Given the description of an element on the screen output the (x, y) to click on. 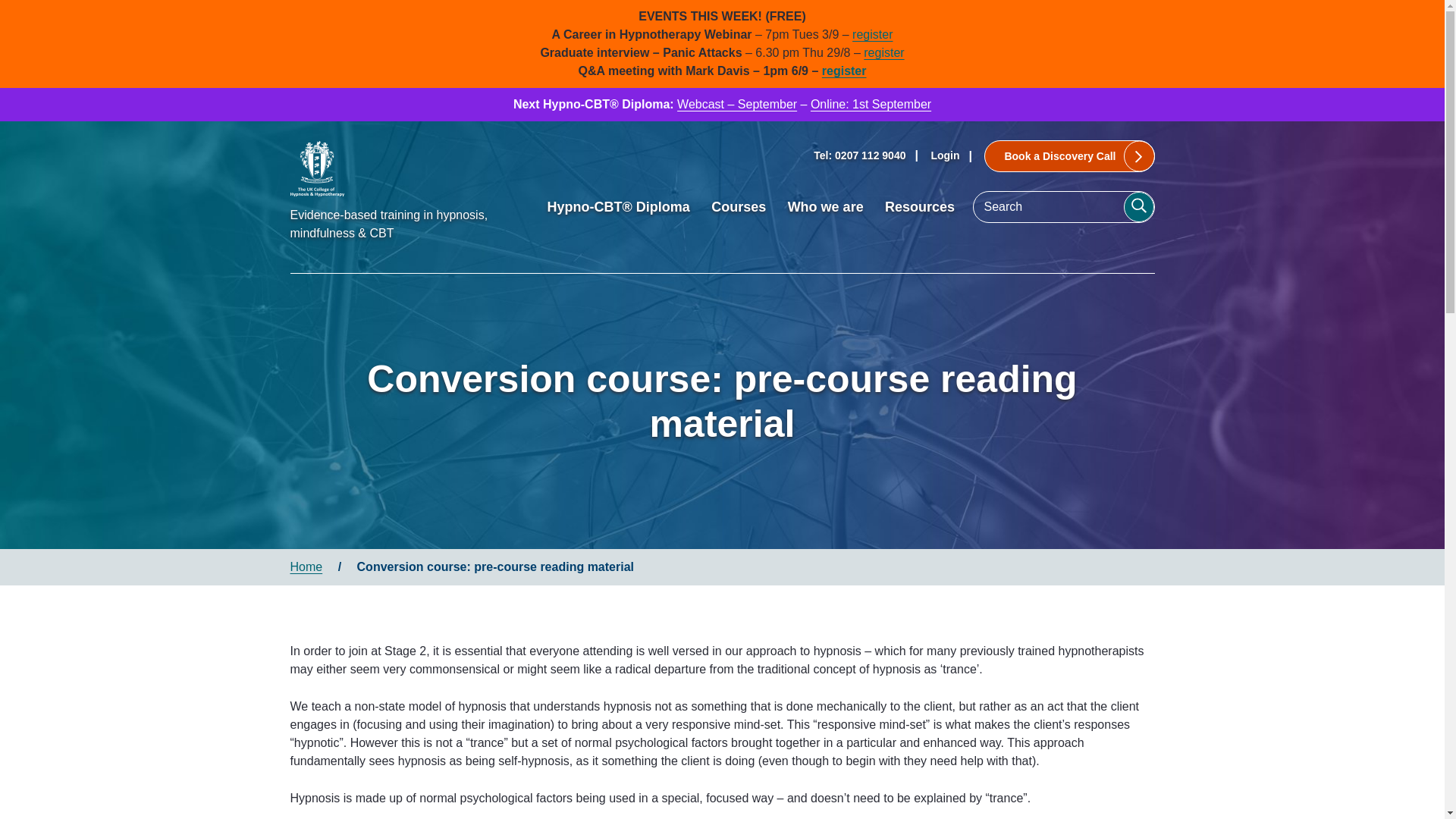
Call us (859, 155)
register (883, 51)
Who we are (832, 206)
Book a Discovery Call (1069, 155)
Search (1139, 206)
Login (944, 155)
Courses (745, 206)
register (871, 33)
Resources (926, 206)
Online: 1st September (870, 103)
